Given the description of an element on the screen output the (x, y) to click on. 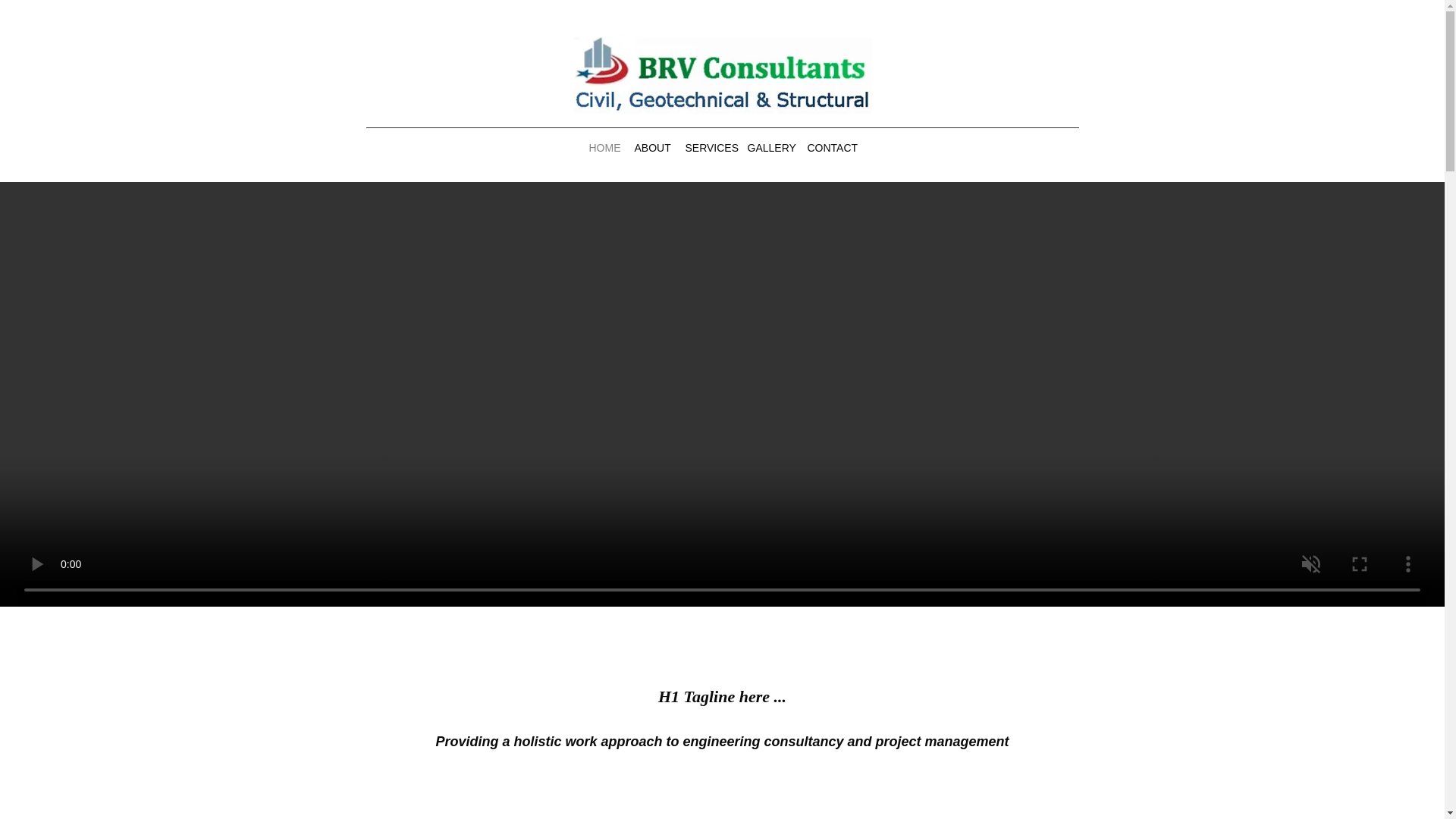
GALLERY (769, 147)
ABOUT (651, 147)
HOME (603, 147)
CONTACT (831, 147)
SERVICES (708, 147)
